Given the description of an element on the screen output the (x, y) to click on. 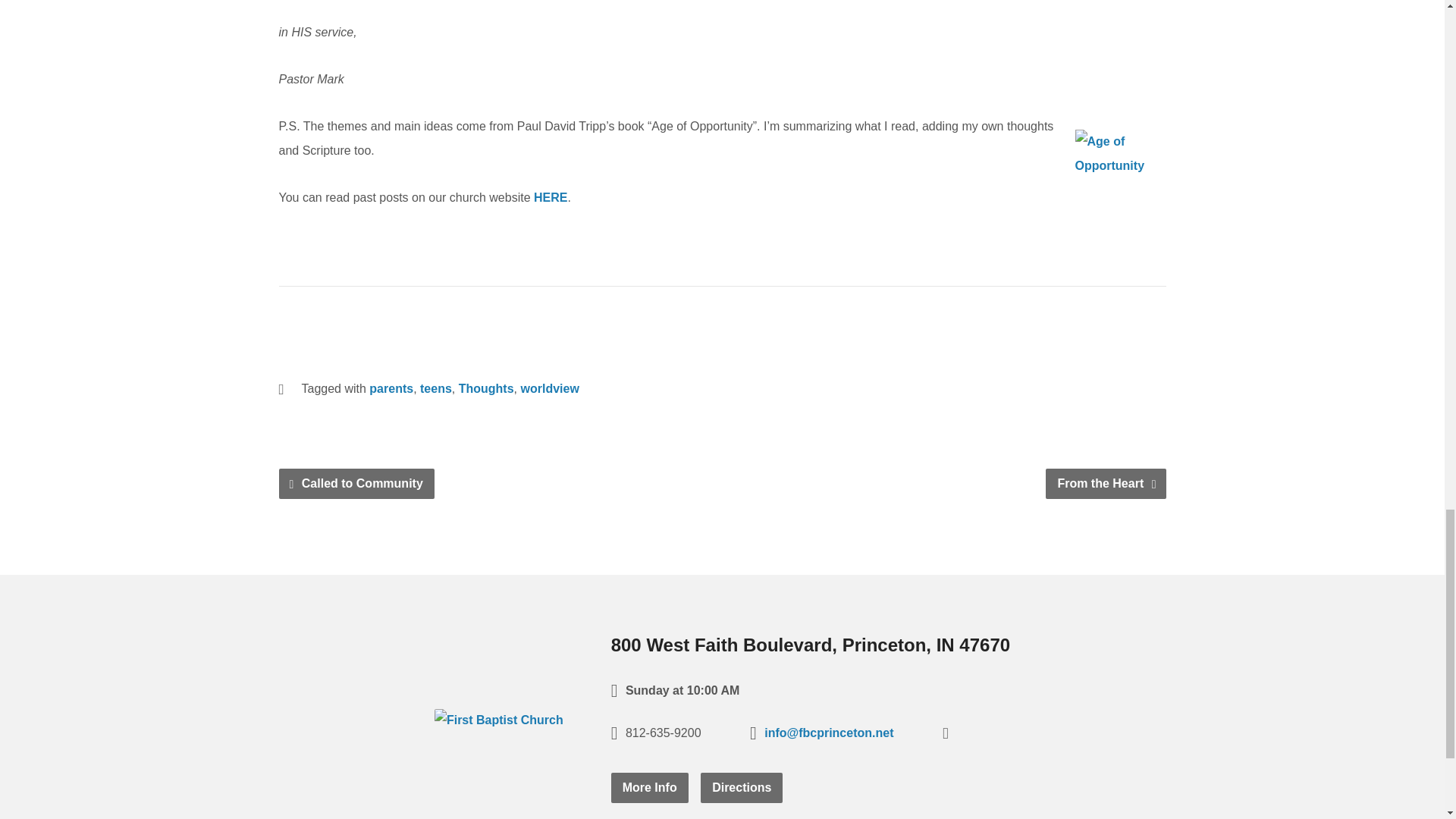
First Baptist Church (498, 719)
